Given the description of an element on the screen output the (x, y) to click on. 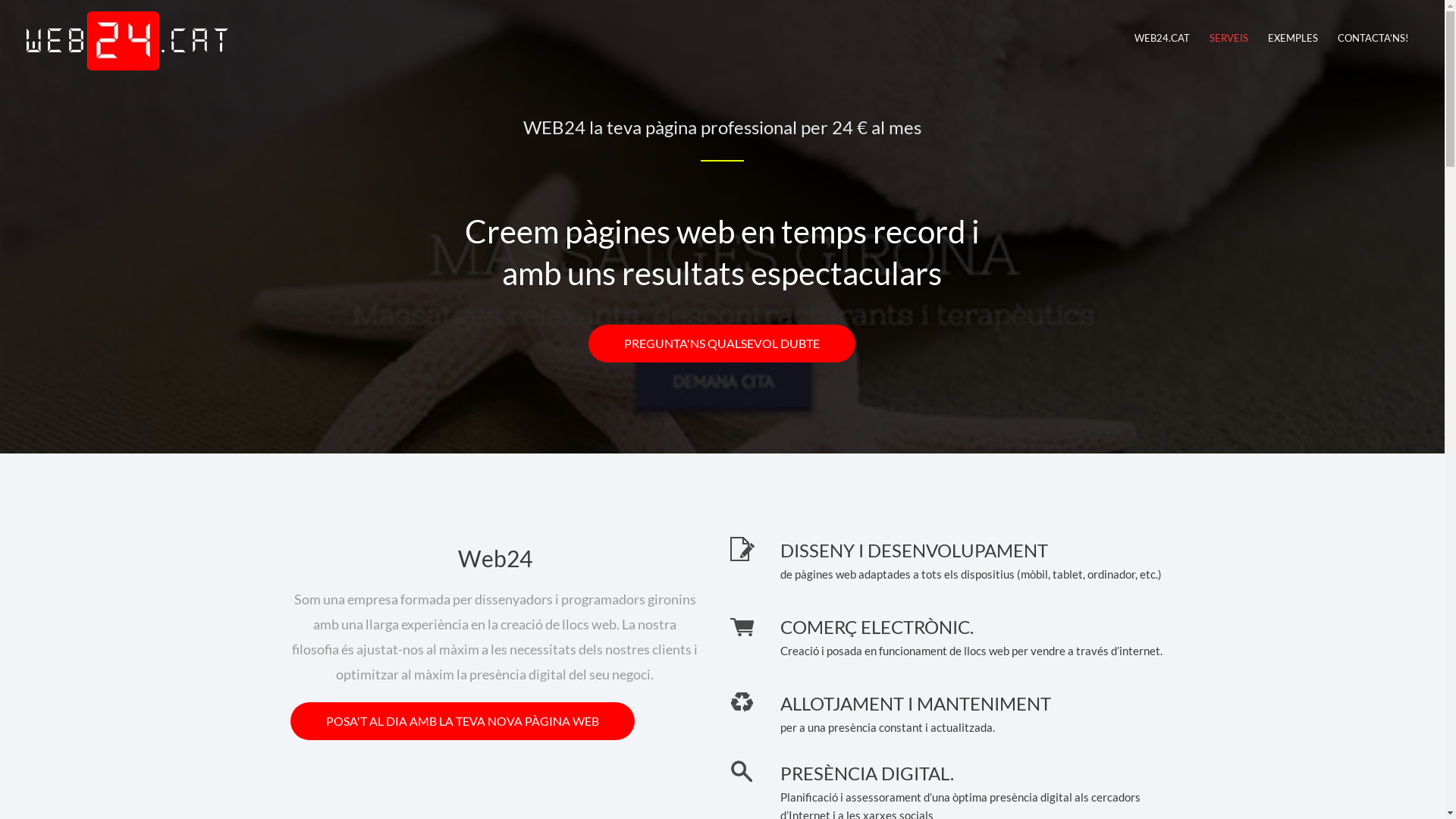
SERVEIS Element type: text (1228, 37)
EXEMPLES Element type: text (1292, 37)
PREGUNTA'NS QUALSEVOL DUBTE Element type: text (721, 343)
WEB24.CAT Element type: text (1161, 37)
